Given the description of an element on the screen output the (x, y) to click on. 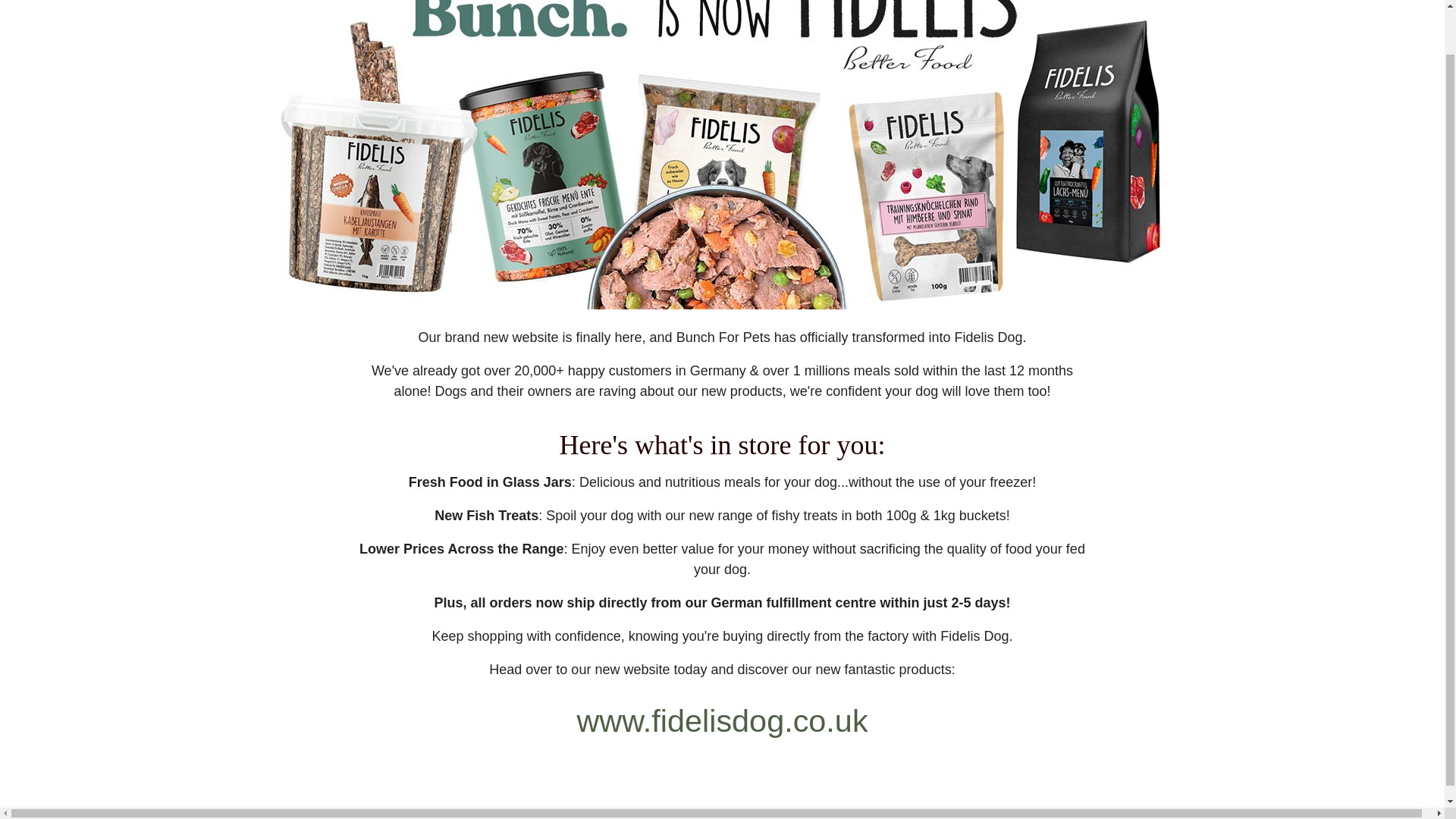
www.fidelisdog.co.uk (721, 720)
